Given the description of an element on the screen output the (x, y) to click on. 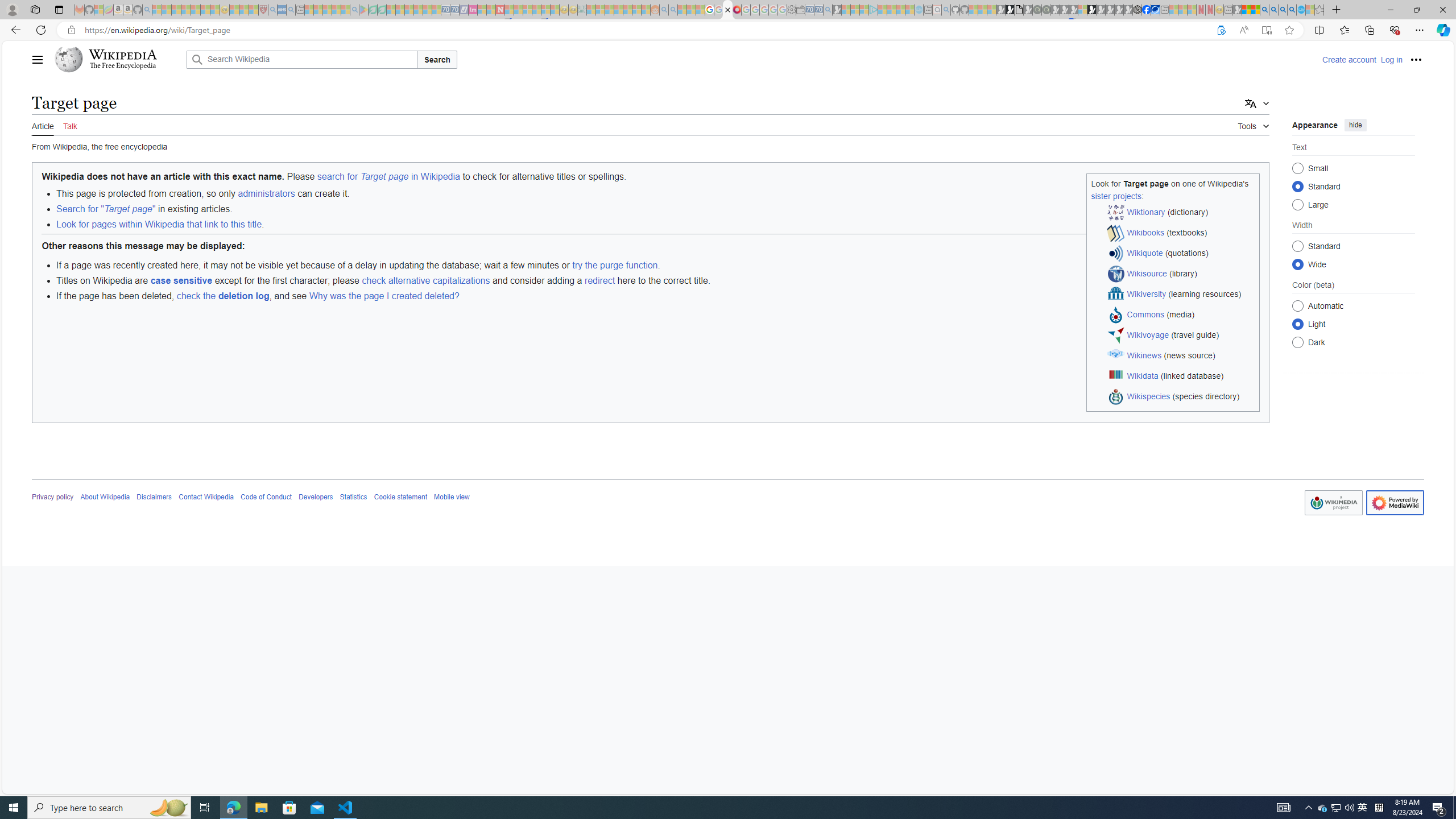
Wiktionary (1145, 212)
Target page - Wikipedia (726, 9)
Wikisource (library) (1181, 274)
Wikimedia Foundation (1333, 502)
Expert Portfolios - Sleeping (617, 9)
